Given the description of an element on the screen output the (x, y) to click on. 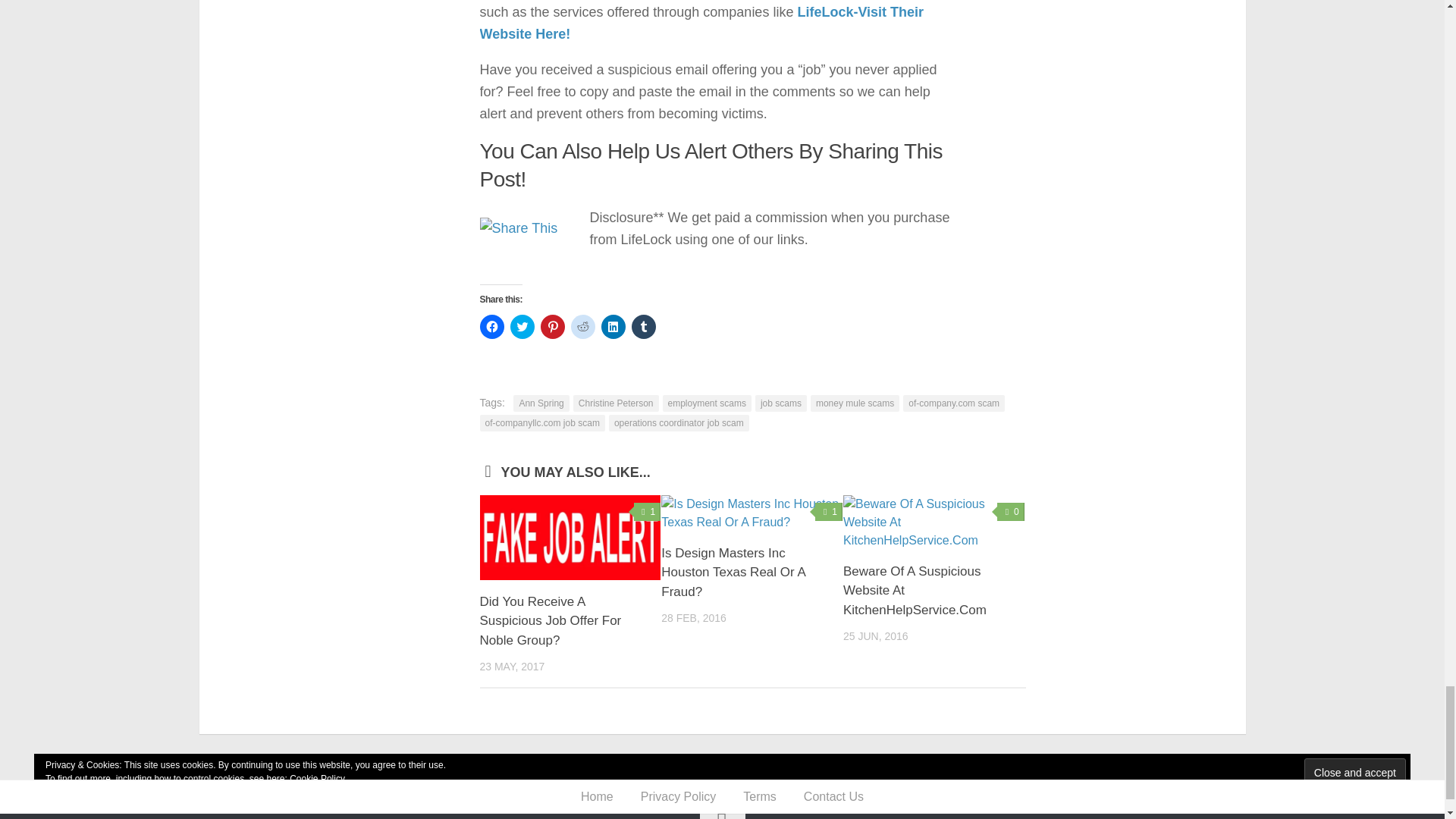
Click to share on Twitter (521, 325)
Is Design Masters Inc Houston Texas Real Or A Fraud? (733, 572)
Beware Of A Suspicious Website At KitchenHelpService.Com (915, 590)
LifeLock-Visit Their Website Here! (701, 22)
Click to share on Pinterest (552, 325)
1 (829, 511)
operations coordinator job scam (678, 422)
Beware Of A Suspicious Website At KitchenHelpService.Com (915, 590)
job scams (780, 402)
Is Design Masters Inc Houston Texas Real Or A Fraud? (733, 572)
